Given the description of an element on the screen output the (x, y) to click on. 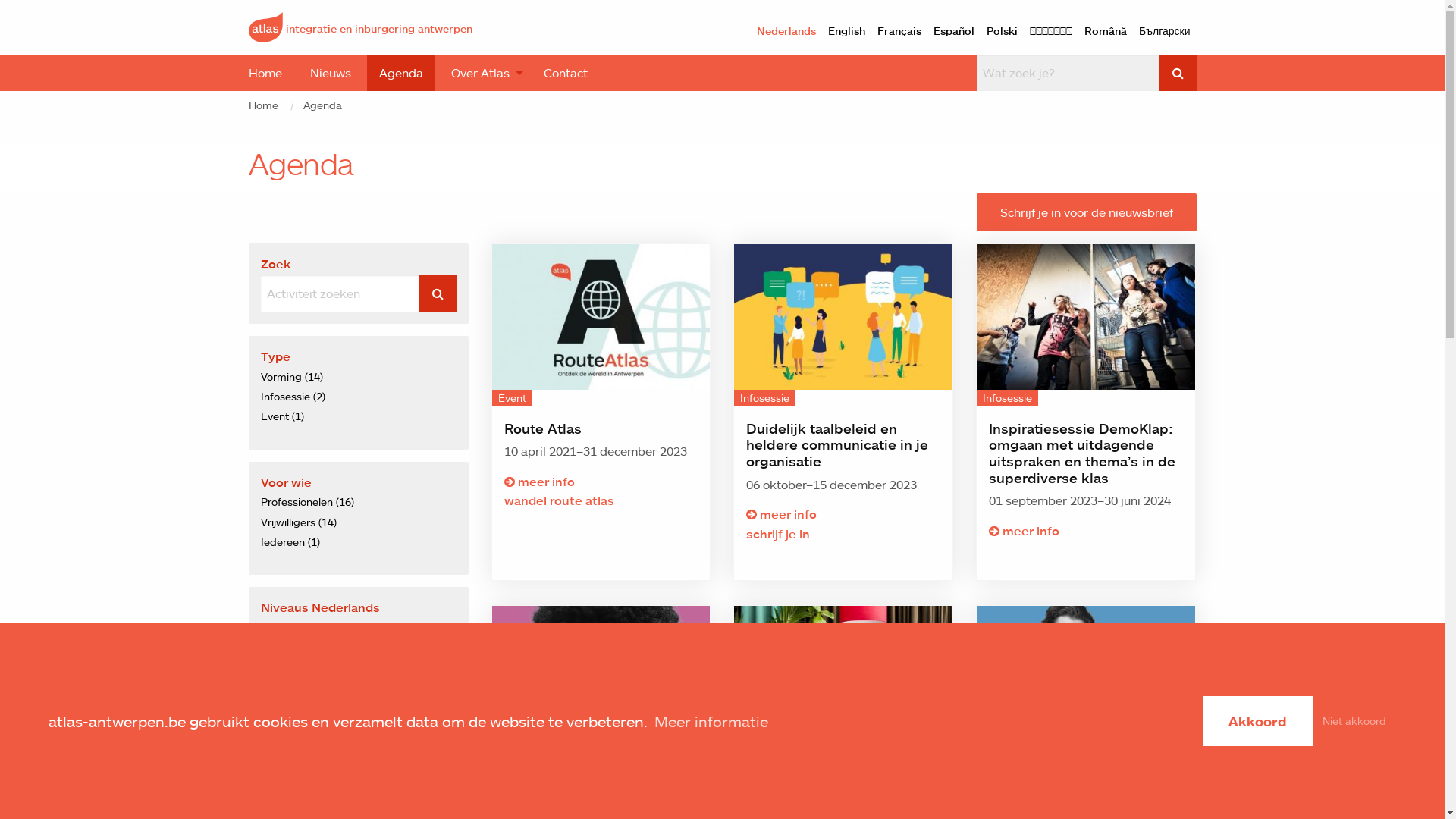
Vorming Element type: text (1085, 687)
Foto: Frederik Beyens Element type: hover (843, 678)
Zoek Element type: text (1176, 72)
Agenda Element type: text (401, 72)
Niet akkoord Element type: text (1354, 720)
Vorming Element type: text (843, 687)
Home Element type: text (263, 104)
Agenda Element type: text (322, 104)
schrijf je in Element type: text (843, 534)
Event (1) Element type: text (282, 415)
Vrijwilligers (14) Element type: text (298, 521)
Infosessie Element type: text (1085, 326)
Contact Element type: text (564, 72)
(3) Element type: text (298, 649)
Polski Element type: text (1001, 30)
Vorming (14) Element type: text (291, 376)
Over Atlas Element type: text (482, 72)
Professionelen (16) Element type: text (307, 501)
Klare taal spreken Element type: hover (600, 678)
Schrijf je in voor de nieuwsbrief Element type: text (1086, 212)
Zoek Element type: text (436, 293)
Overslaan en naar de inhoud gaan Element type: text (0, 0)
Iedereen (1) Element type: text (290, 541)
Nederlands Element type: text (786, 30)
wandel route atlas Element type: text (600, 501)
(2) Element type: text (298, 627)
integratie en inburgering antwerpen Element type: text (360, 25)
Vorming Element type: text (600, 687)
Infosessie (2) Element type: text (292, 395)
Meer informatie Element type: text (711, 721)
Akkoord Element type: text (1257, 721)
Nieuws Element type: text (329, 72)
Infosessie Element type: text (843, 326)
English Element type: text (846, 30)
Event Element type: text (600, 326)
Home Element type: text (265, 72)
